Given the description of an element on the screen output the (x, y) to click on. 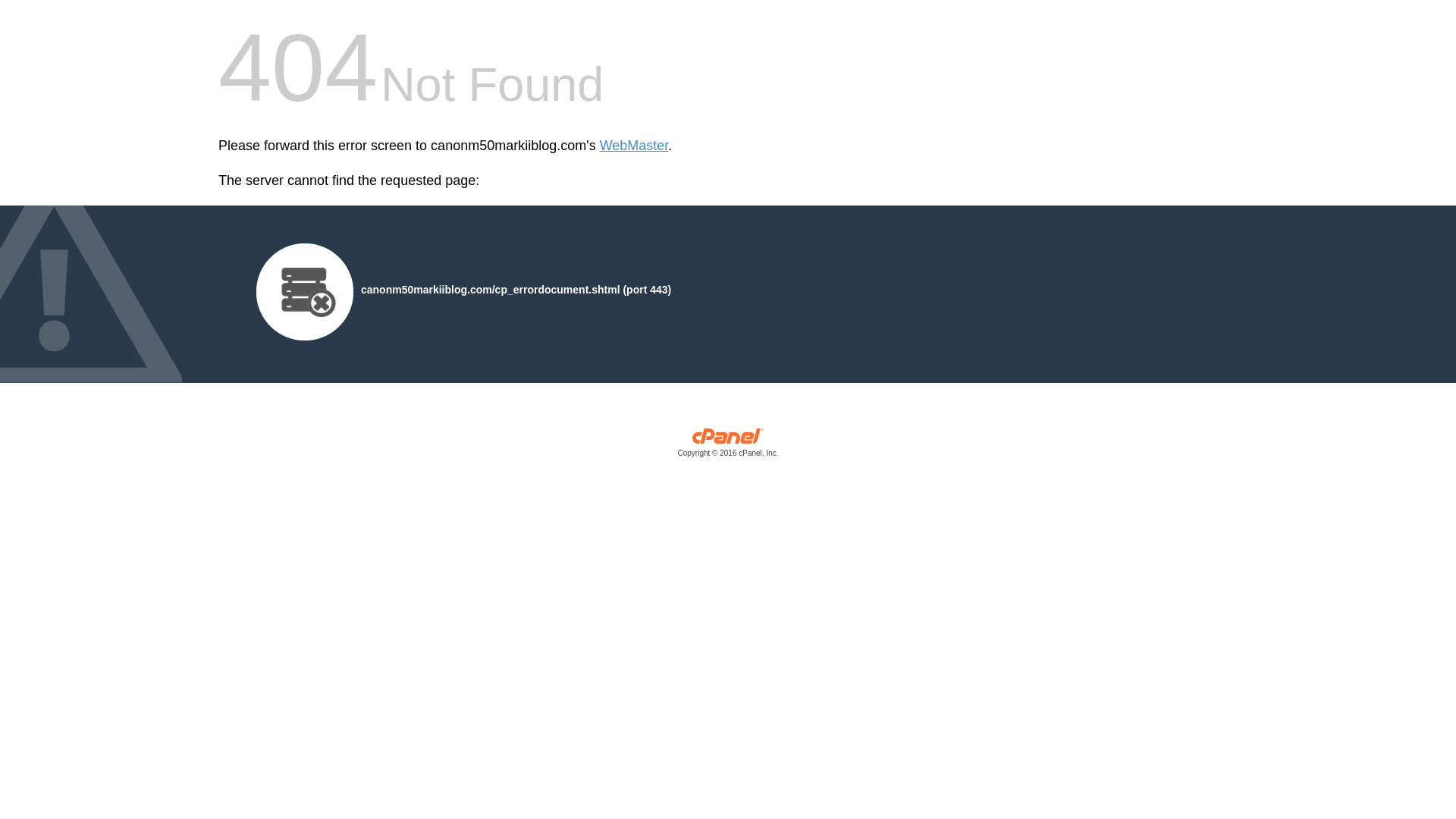
cPanel, Inc. (727, 446)
WebMaster (633, 145)
